Given the description of an element on the screen output the (x, y) to click on. 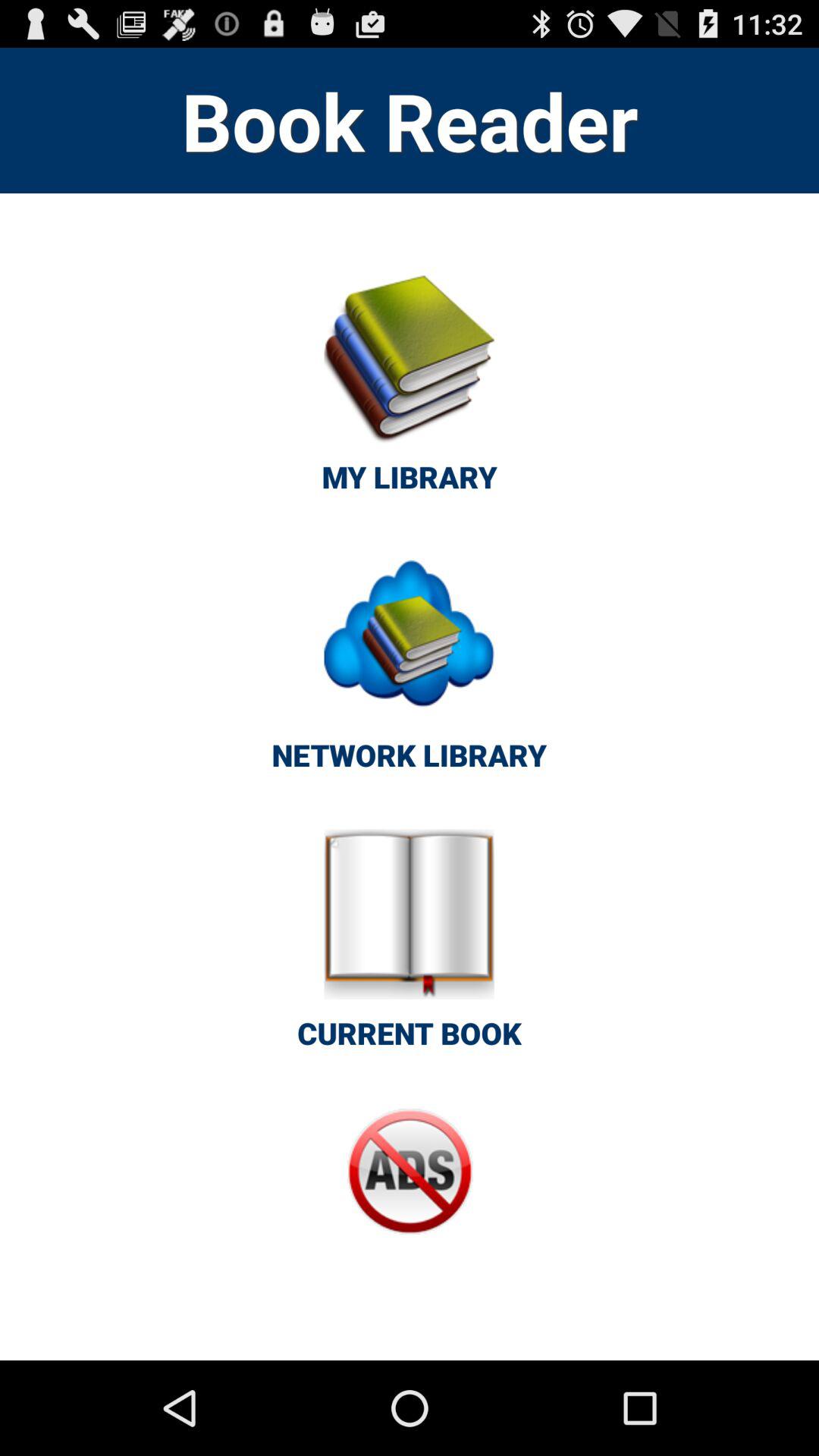
press the my library (409, 392)
